Given the description of an element on the screen output the (x, y) to click on. 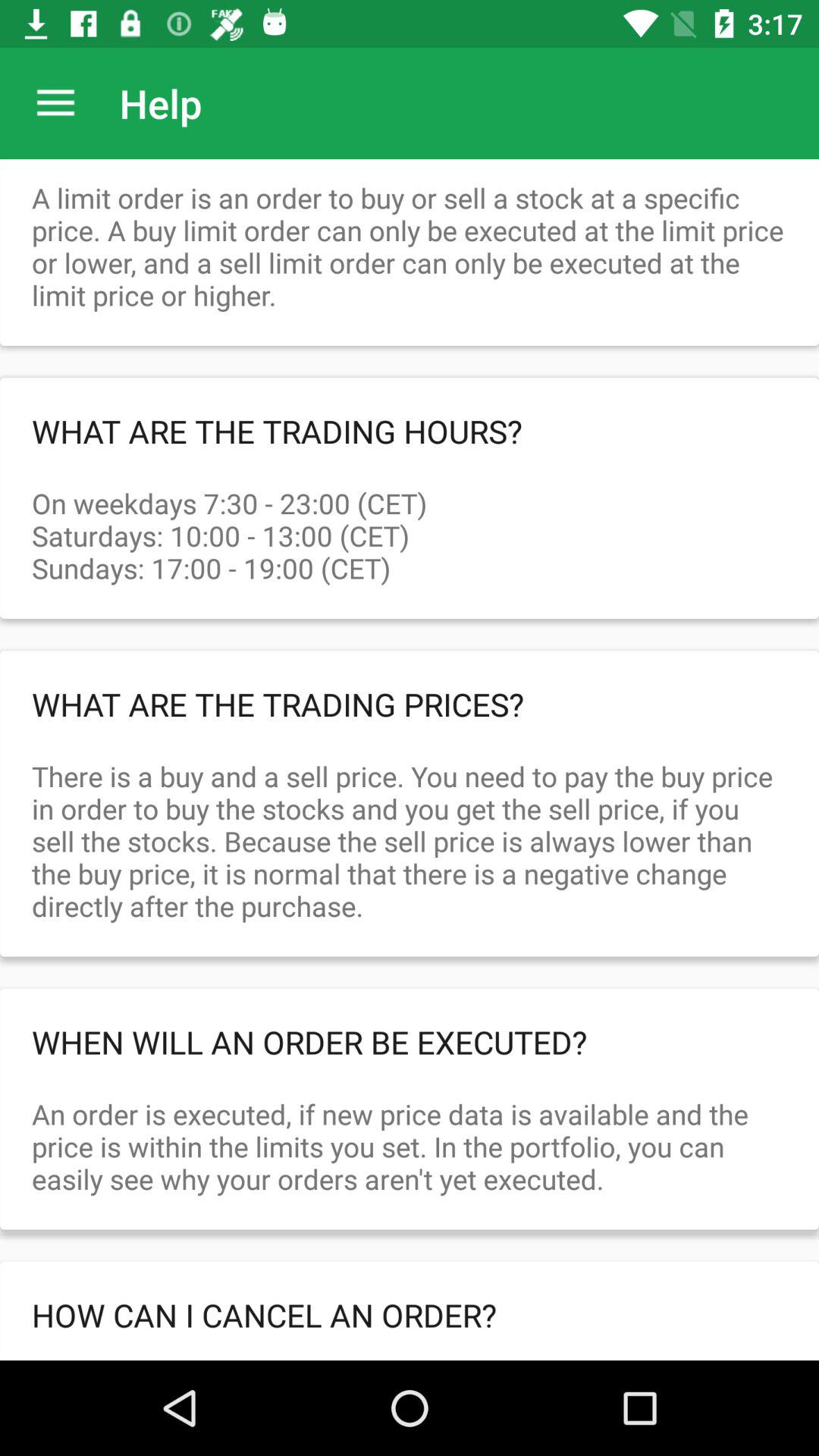
click the item above a limit order item (55, 103)
